Given the description of an element on the screen output the (x, y) to click on. 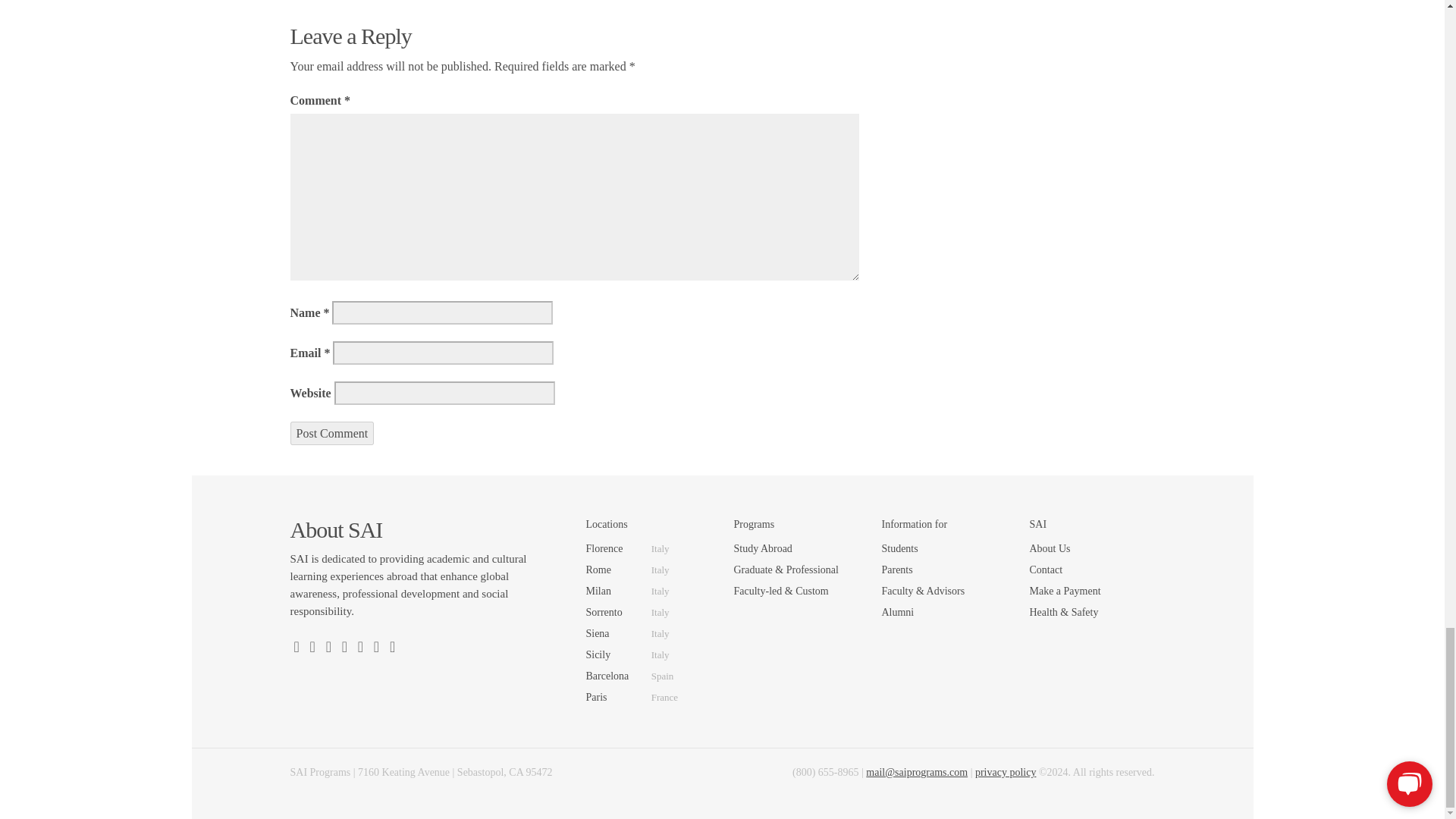
Post Comment (331, 432)
